Given the description of an element on the screen output the (x, y) to click on. 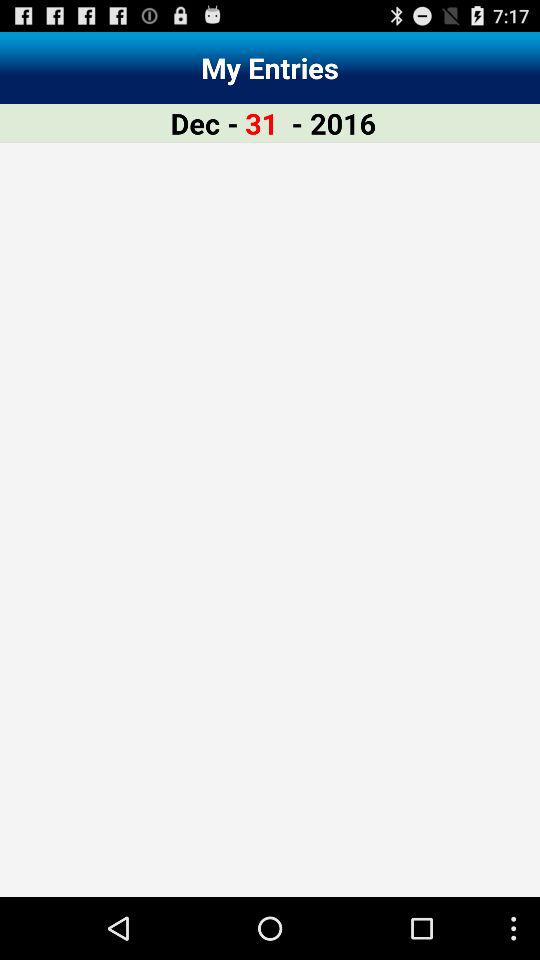
choose the item to the right of the dec - item (261, 122)
